Given the description of an element on the screen output the (x, y) to click on. 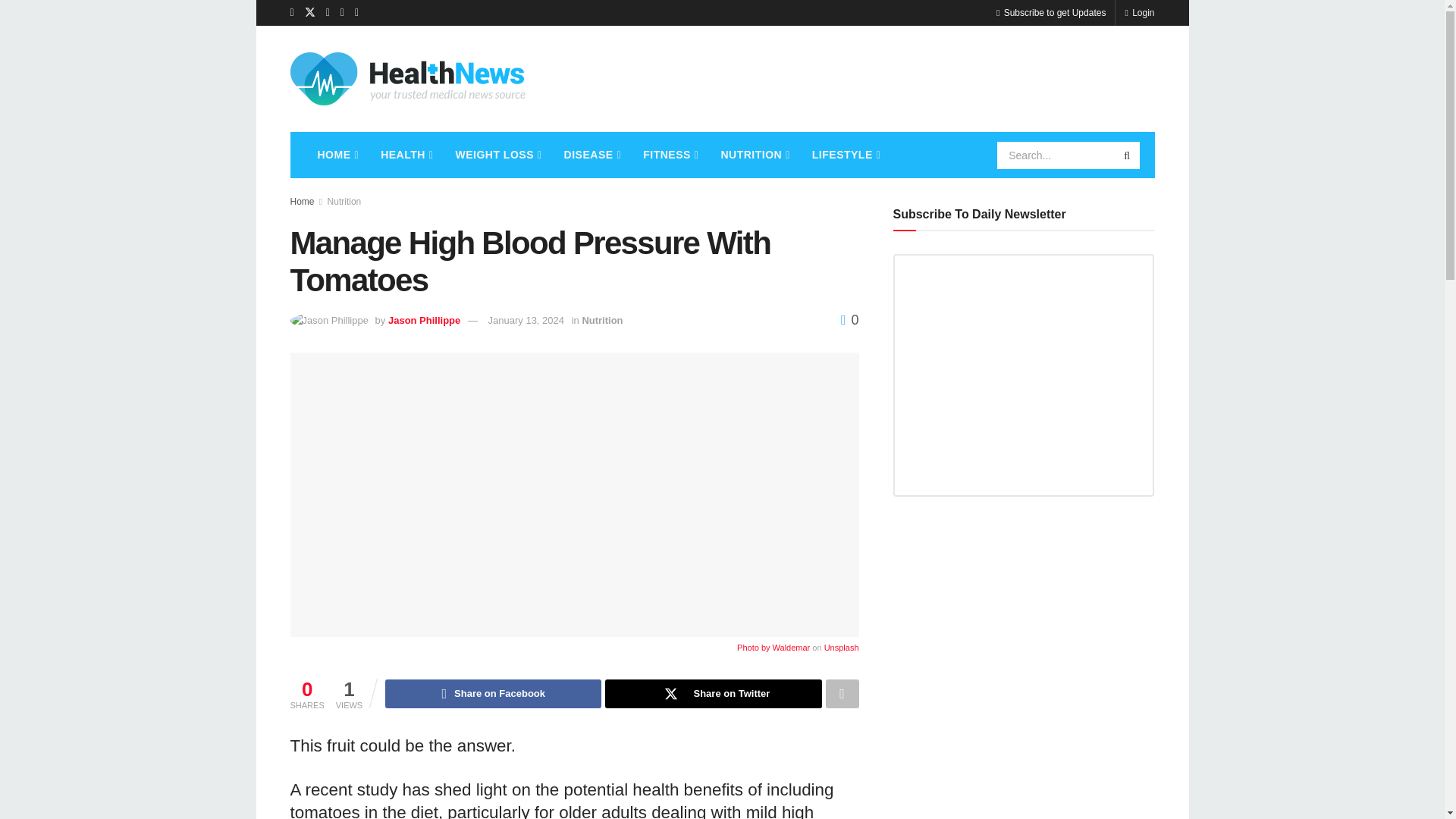
WEIGHT LOSS (496, 154)
HOME (336, 154)
Subscribe to get Updates (1050, 12)
Login (1139, 12)
HEALTH (405, 154)
